Given the description of an element on the screen output the (x, y) to click on. 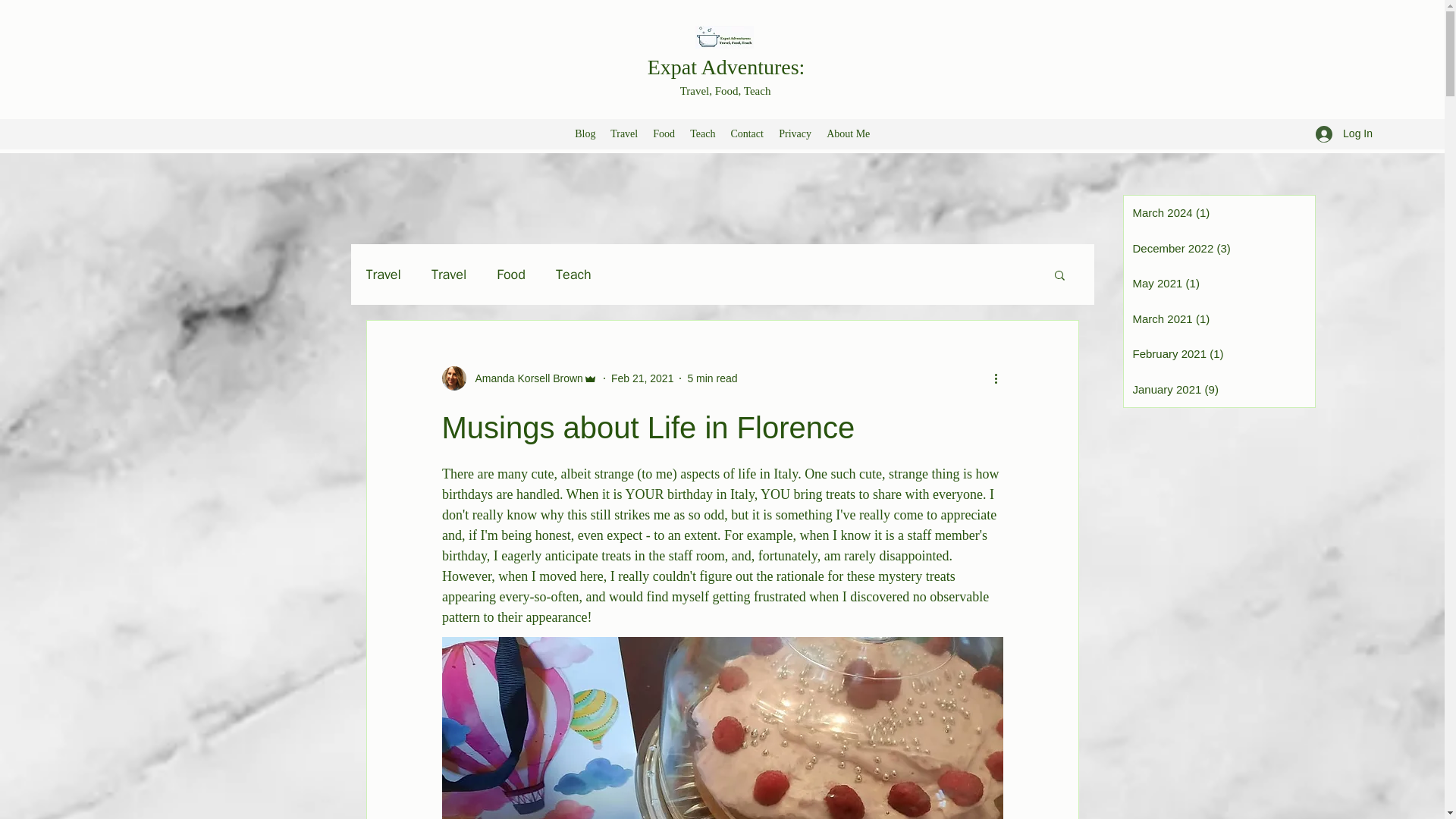
Travel, Food, Teach (725, 91)
Contact (746, 133)
Expat Adventures: (726, 66)
Log In (1343, 133)
Teach (702, 133)
About Me (847, 133)
Travel (623, 133)
Travel (447, 274)
Travel (382, 274)
Blog (584, 133)
